Given the description of an element on the screen output the (x, y) to click on. 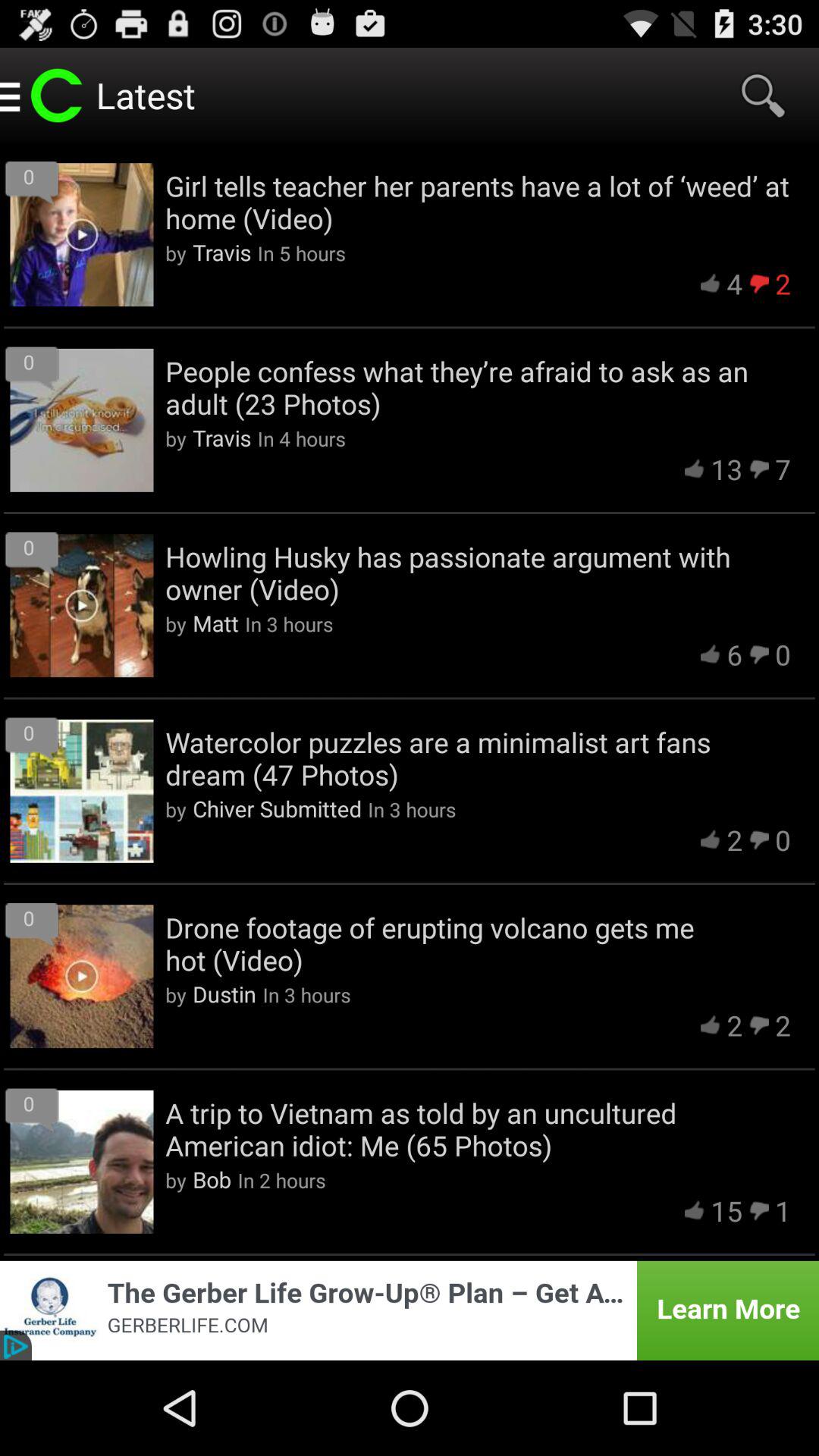
turn off the item below a trip to item (726, 1210)
